Given the description of an element on the screen output the (x, y) to click on. 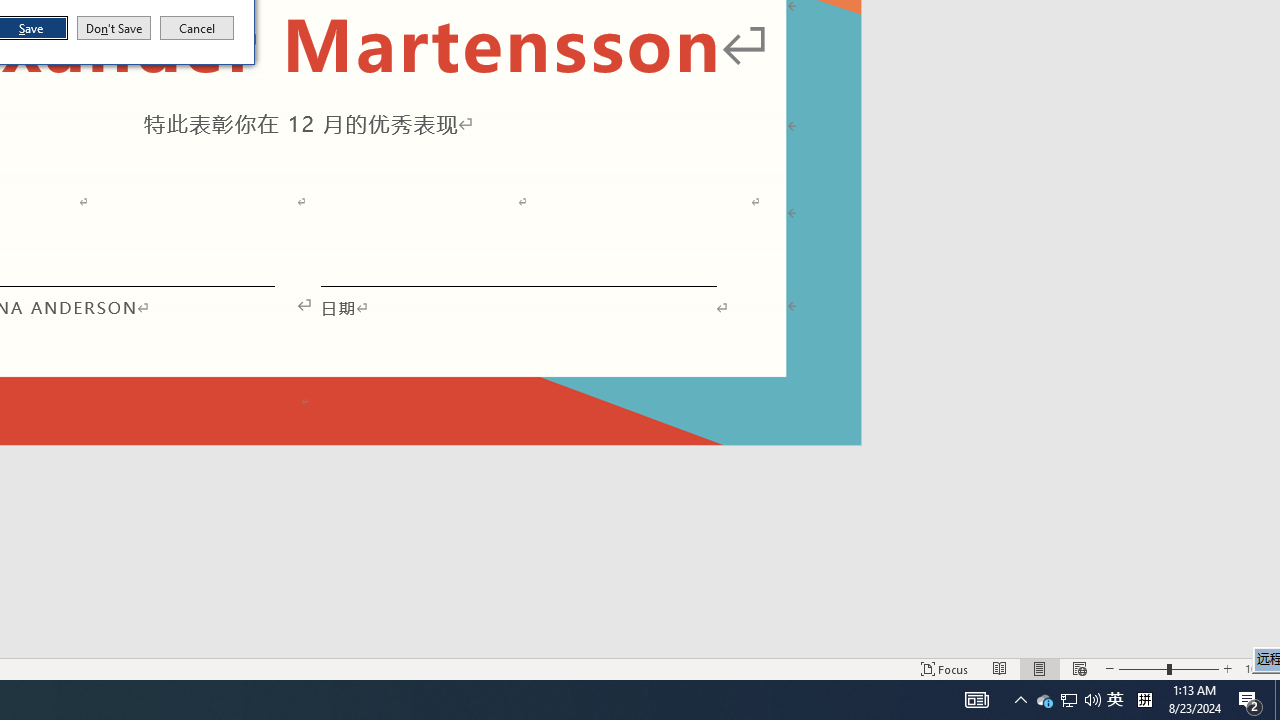
Zoom Out (1142, 668)
Read Mode (1000, 668)
Q2790: 100% (1092, 699)
AutomationID: 4105 (976, 699)
Zoom In (1227, 668)
Don't Save (113, 27)
Print Layout (1039, 668)
